Given the description of an element on the screen output the (x, y) to click on. 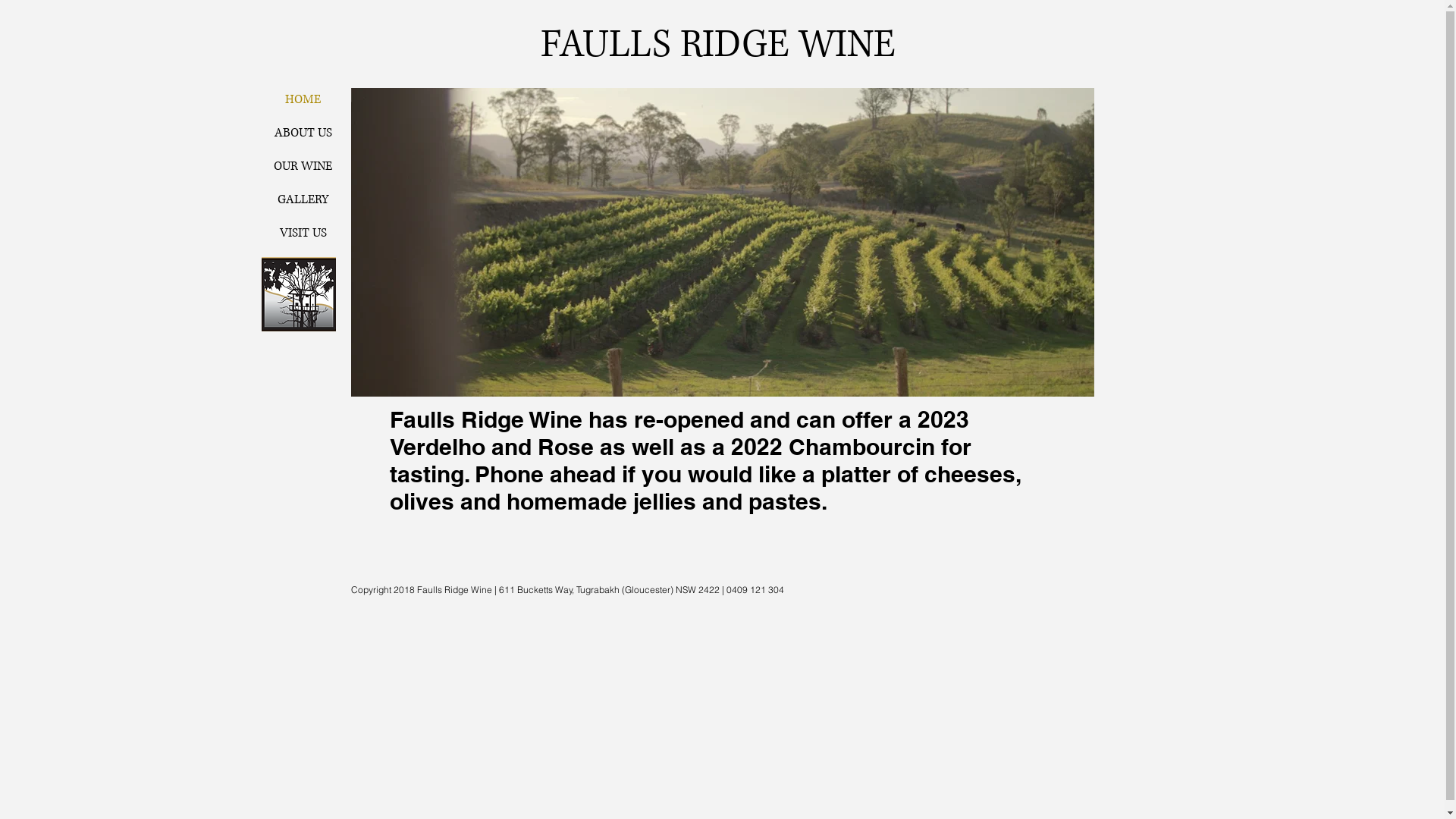
HOME Element type: text (302, 98)
VISIT US Element type: text (302, 231)
OUR WINE Element type: text (302, 165)
ABOUT US Element type: text (302, 131)
FAULLS RIDGE WINE Element type: text (716, 44)
GALLERY Element type: text (302, 198)
